Given the description of an element on the screen output the (x, y) to click on. 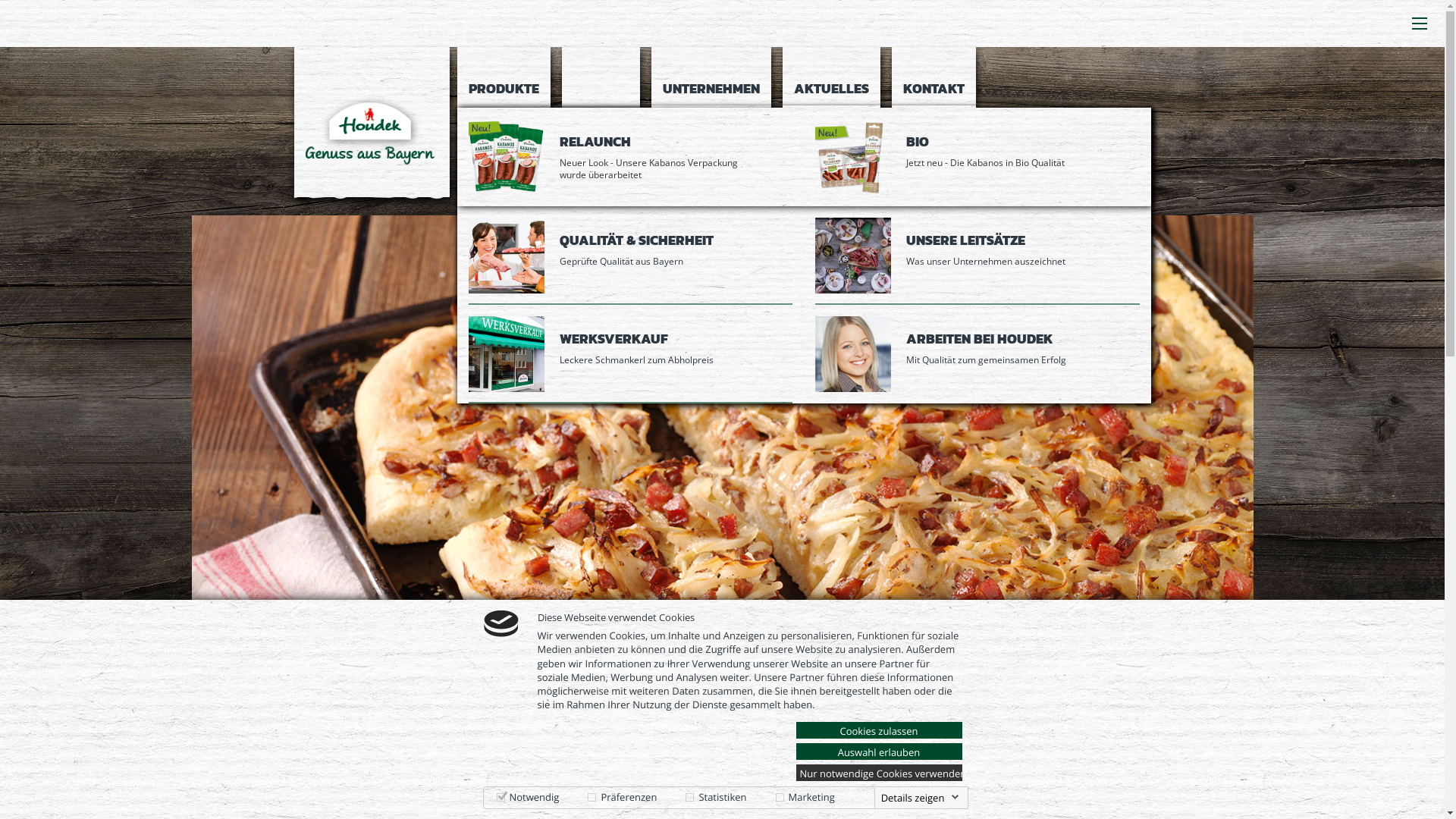
Nur notwendige Cookies verwenden Element type: text (879, 772)
REZEPTE Element type: text (600, 119)
UNTERNEHMEN Element type: text (710, 77)
AKTUELLES Element type: text (831, 77)
Auswahl erlauben Element type: text (879, 751)
KONTAKT Element type: text (933, 77)
Cookies zulassen Element type: text (879, 729)
Details zeigen Element type: text (920, 797)
PRODUKTE Element type: text (502, 77)
